Given the description of an element on the screen output the (x, y) to click on. 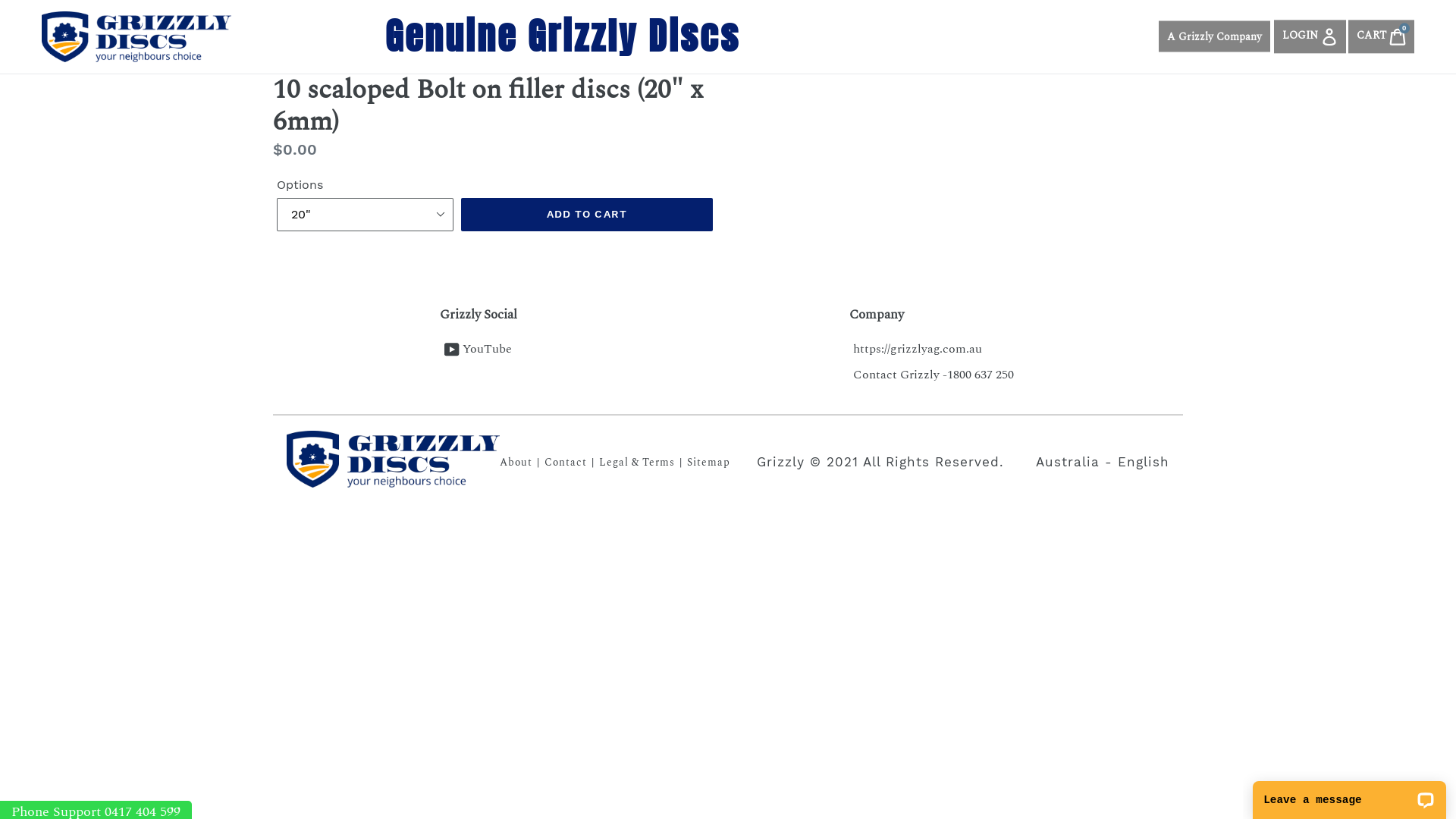
Sitemap Element type: text (708, 462)
LOGIN
Log in Element type: text (1310, 36)
About Element type: text (515, 462)
CART
Cart
0 Element type: text (1381, 36)
ADD TO CART Element type: text (587, 214)
Go to our Main Website Element type: hover (392, 458)
Contact Grizzly -1800 637 250 Element type: text (933, 374)
https://grizzlyag.com.au Element type: text (917, 348)
A Grizzly Company Element type: text (1214, 35)
Contact Element type: text (565, 462)
Legal & Terms Element type: text (636, 462)
YouTube Element type: text (478, 348)
